Given the description of an element on the screen output the (x, y) to click on. 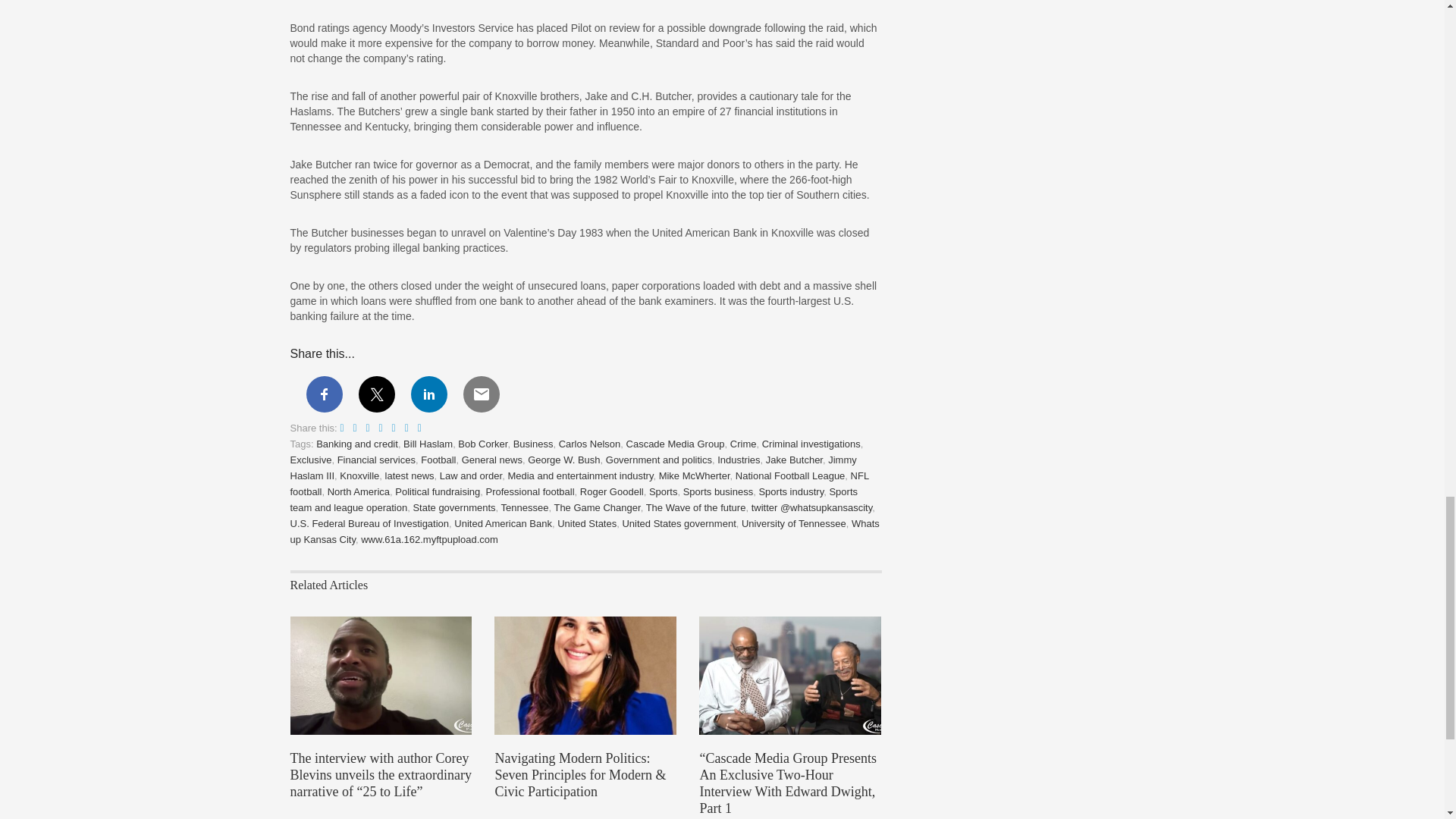
Banking and credit (356, 443)
Bill Haslam (427, 443)
Criminal investigations (810, 443)
Carlos Nelson (590, 443)
George W. Bush (563, 460)
Financial services (375, 460)
Business (533, 443)
Bob Corker (482, 443)
Exclusive (310, 460)
Government and politics (658, 460)
